Given the description of an element on the screen output the (x, y) to click on. 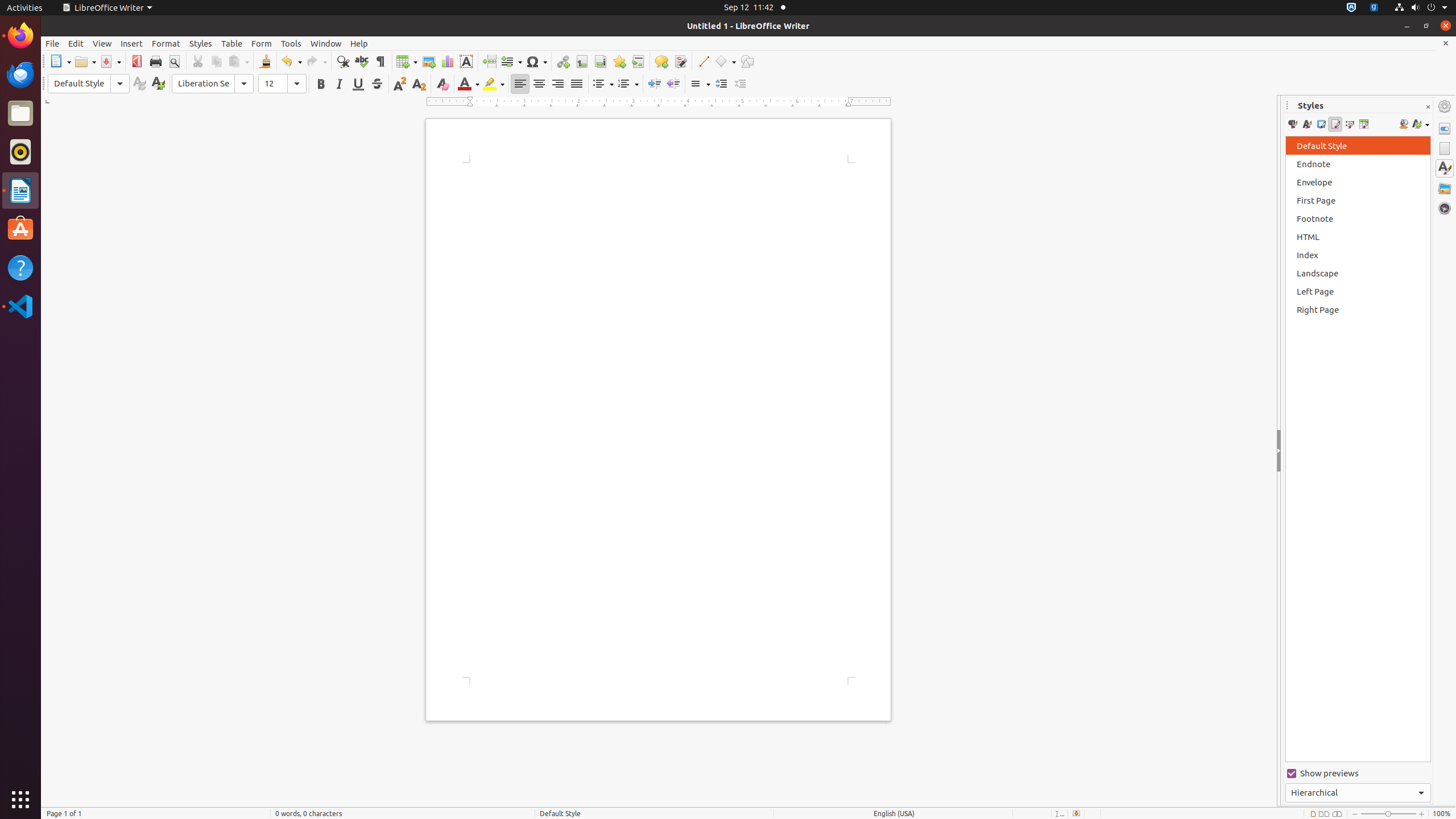
Center Element type: toggle-button (538, 83)
Open Element type: push-button (84, 61)
Hyperlink Element type: toggle-button (562, 61)
View Element type: menu (102, 43)
Comment Element type: push-button (660, 61)
